Given the description of an element on the screen output the (x, y) to click on. 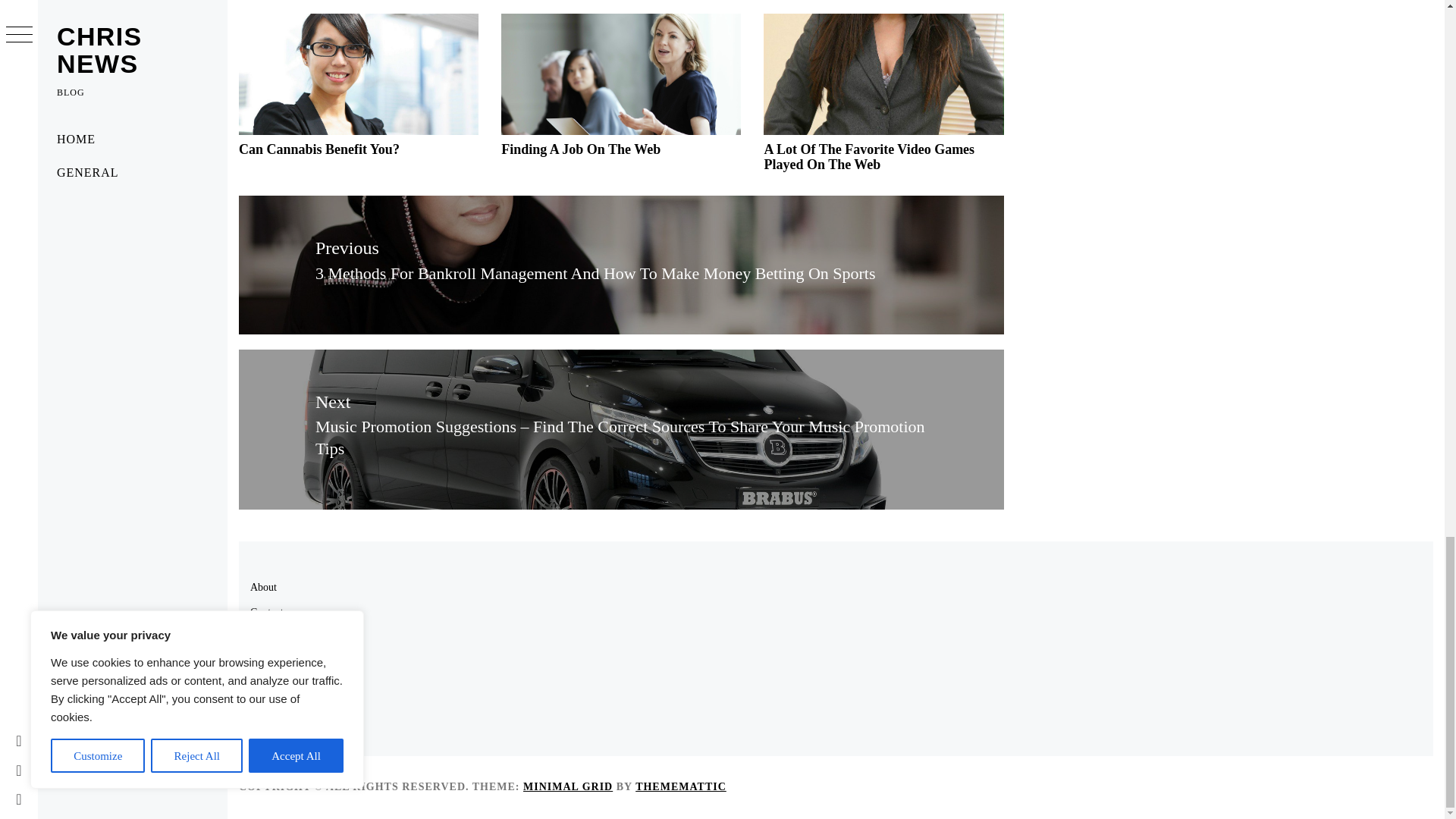
Can Cannabis Benefit You? (318, 149)
